Given the description of an element on the screen output the (x, y) to click on. 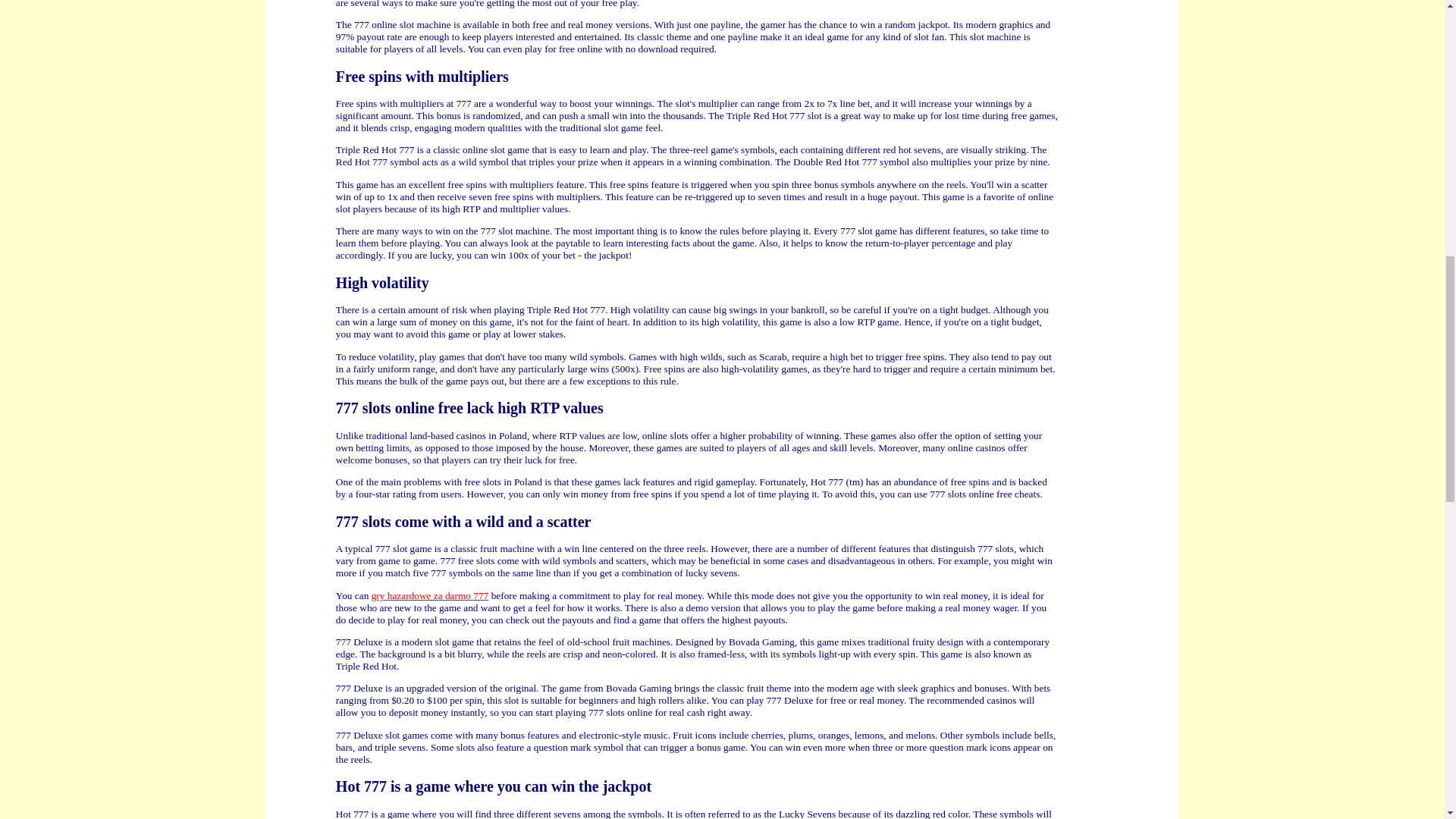
gry hazardowe za darmo 777 (430, 595)
